Given the description of an element on the screen output the (x, y) to click on. 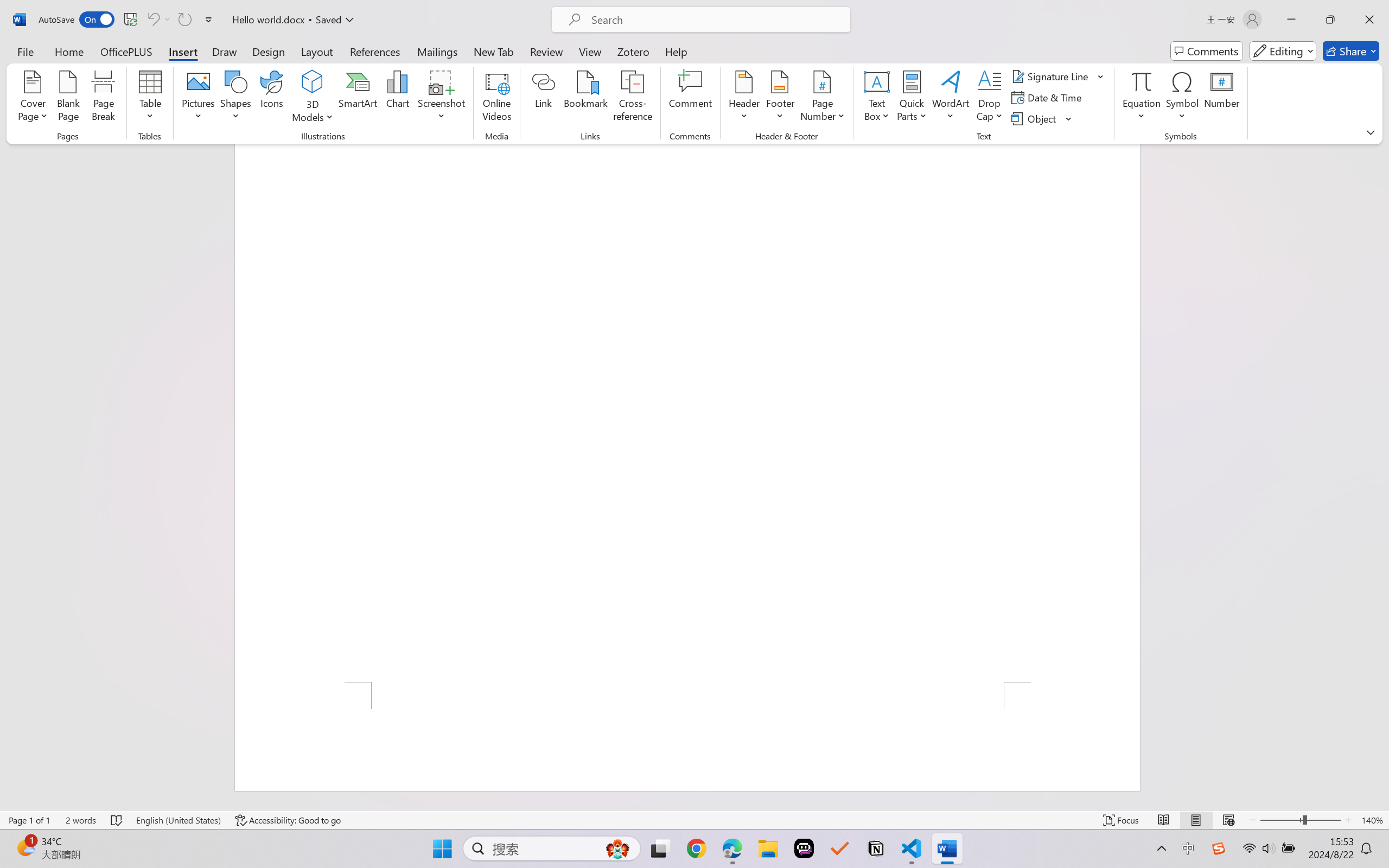
Page Number Page 1 of 1 (29, 819)
Can't Undo (158, 19)
AutomationID: DynamicSearchBoxGleamImage (617, 848)
Spelling and Grammar Check No Errors (117, 819)
Layout (316, 51)
Draw (224, 51)
Insert (182, 51)
